Given the description of an element on the screen output the (x, y) to click on. 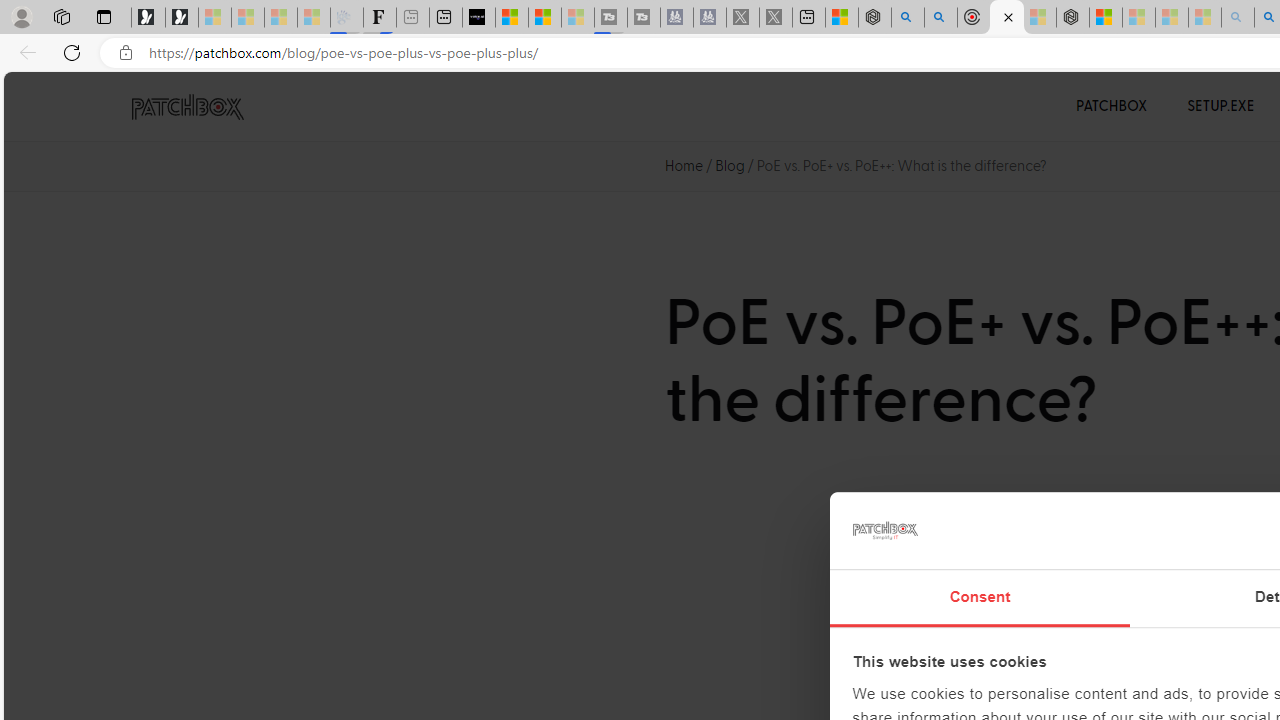
Consent (979, 598)
PATCHBOX (1111, 106)
